Given the description of an element on the screen output the (x, y) to click on. 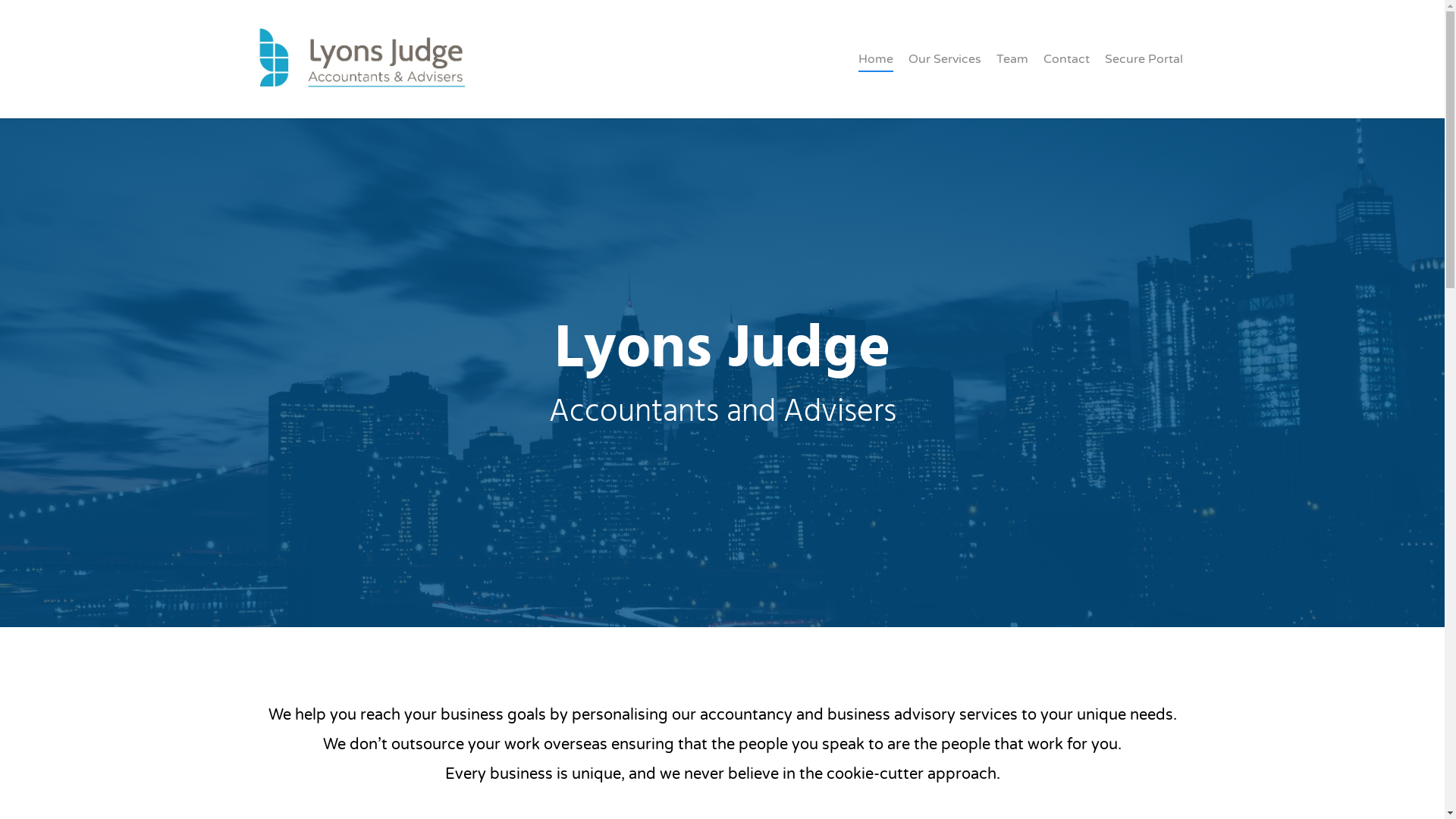
Secure Portal Element type: text (1143, 69)
Contact Element type: text (1066, 69)
Home Element type: text (875, 69)
Our Services Element type: text (944, 69)
Team Element type: text (1012, 69)
